Given the description of an element on the screen output the (x, y) to click on. 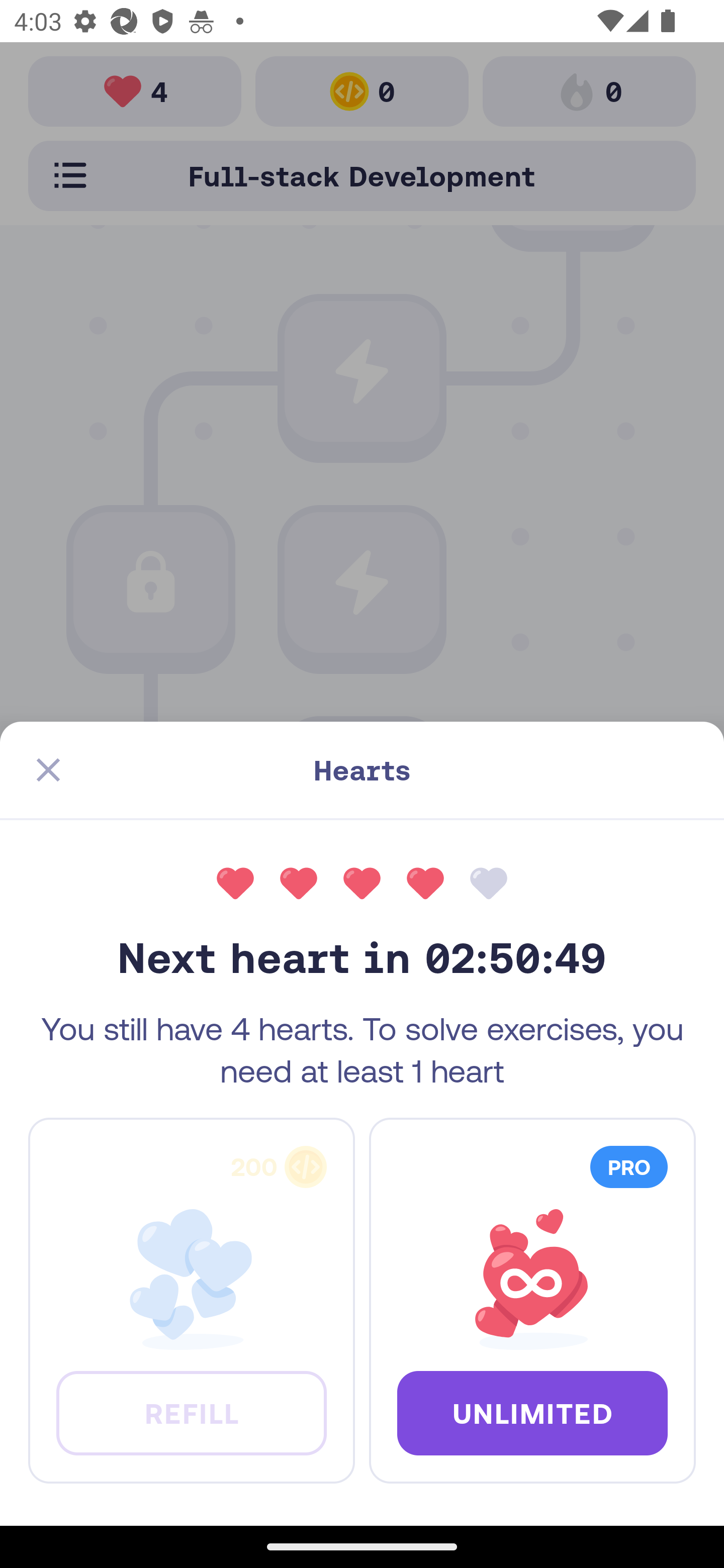
Path Icon (361, 792)
Close (47, 769)
REFILL (191, 1412)
UNLIMITED (532, 1412)
